Given the description of an element on the screen output the (x, y) to click on. 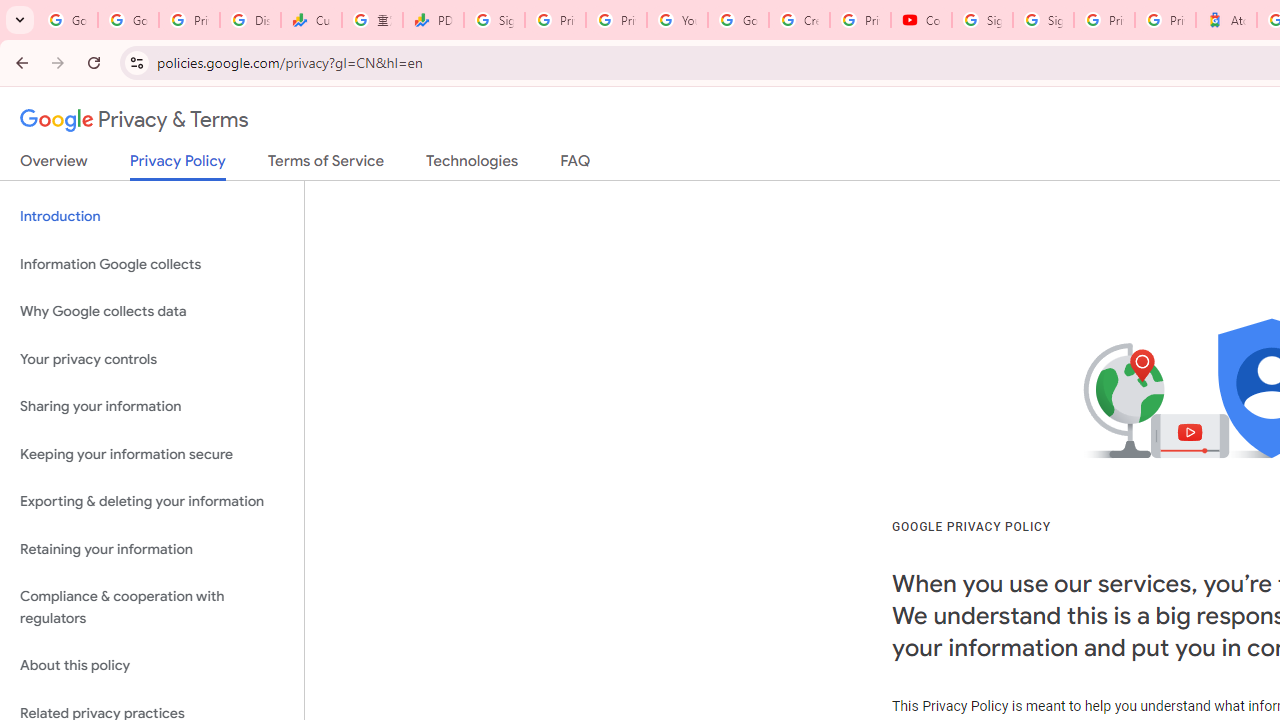
Sign in - Google Accounts (982, 20)
PDD Holdings Inc - ADR (PDD) Price & News - Google Finance (433, 20)
Keeping your information secure (152, 453)
Currencies - Google Finance (310, 20)
Exporting & deleting your information (152, 502)
Compliance & cooperation with regulators (152, 607)
